Given the description of an element on the screen output the (x, y) to click on. 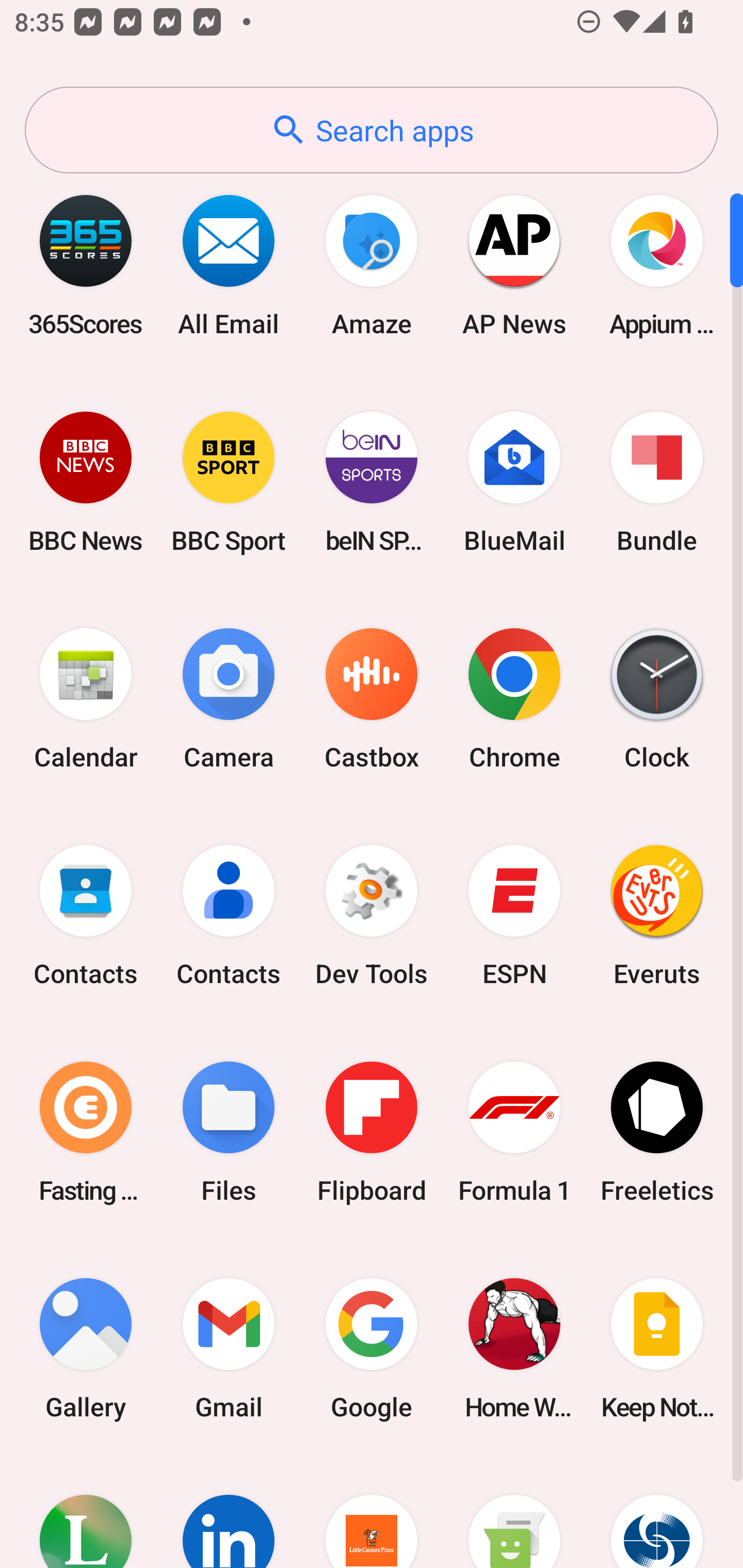
  Search apps (371, 130)
365Scores (85, 264)
All Email (228, 264)
Amaze (371, 264)
AP News (514, 264)
Appium Settings (656, 264)
BBC News (85, 482)
BBC Sport (228, 482)
beIN SPORTS (371, 482)
BlueMail (514, 482)
Bundle (656, 482)
Calendar (85, 699)
Camera (228, 699)
Castbox (371, 699)
Chrome (514, 699)
Clock (656, 699)
Contacts (85, 915)
Contacts (228, 915)
Dev Tools (371, 915)
ESPN (514, 915)
Everuts (656, 915)
Fasting Coach (85, 1131)
Files (228, 1131)
Flipboard (371, 1131)
Formula 1 (514, 1131)
Freeletics (656, 1131)
Gallery (85, 1348)
Gmail (228, 1348)
Google (371, 1348)
Home Workout (514, 1348)
Keep Notes (656, 1348)
